Given the description of an element on the screen output the (x, y) to click on. 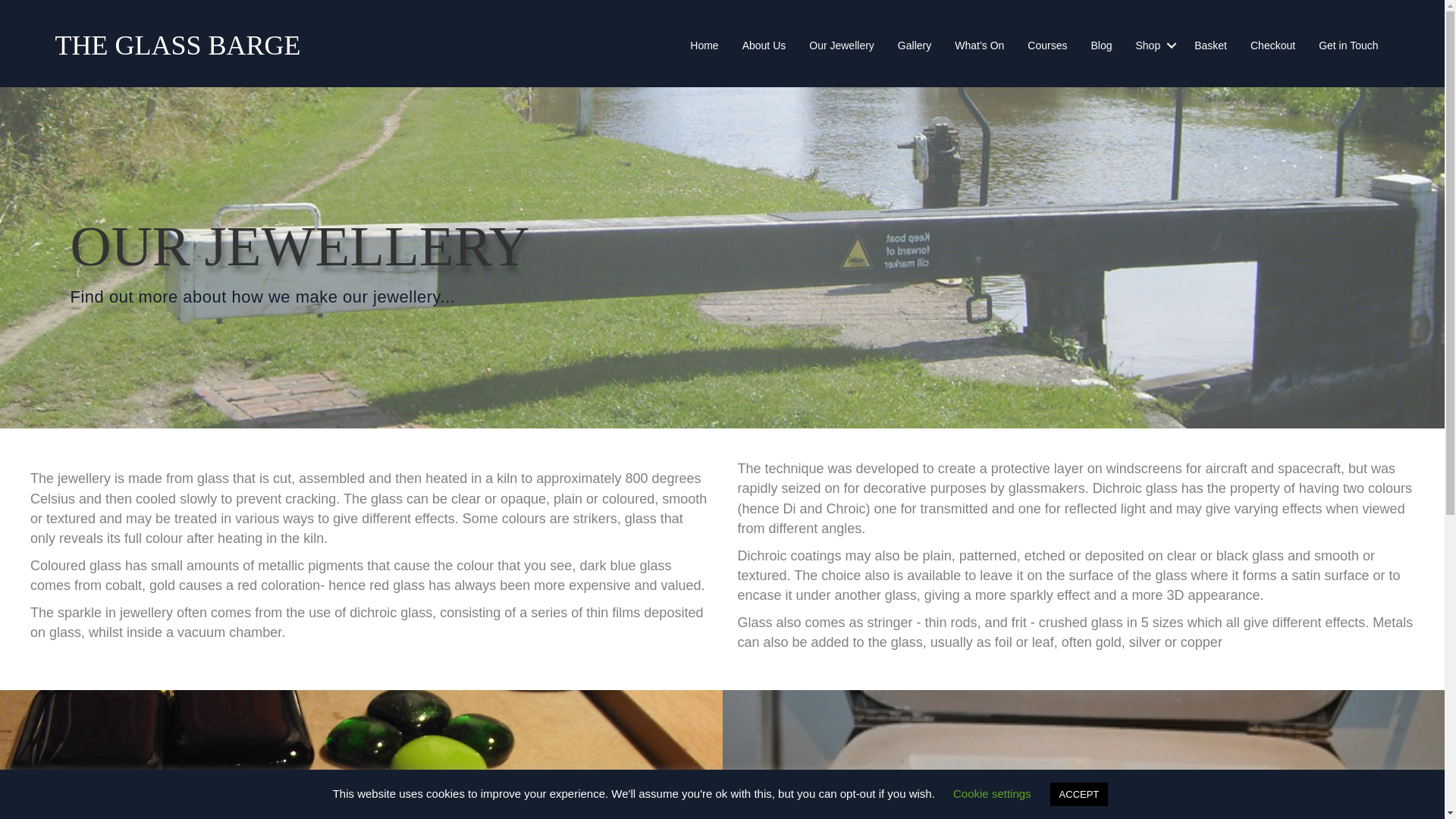
Basket (1210, 45)
The Glass Barge (177, 45)
Our Jewellery (841, 45)
Cookie settings (991, 793)
THE GLASS BARGE (177, 45)
ACCEPT (1078, 793)
Gallery (914, 45)
Courses (1047, 45)
Get in Touch (1348, 45)
Shop (1153, 45)
Checkout (1272, 45)
Blog (1100, 45)
Home (703, 45)
About Us (763, 45)
